Given the description of an element on the screen output the (x, y) to click on. 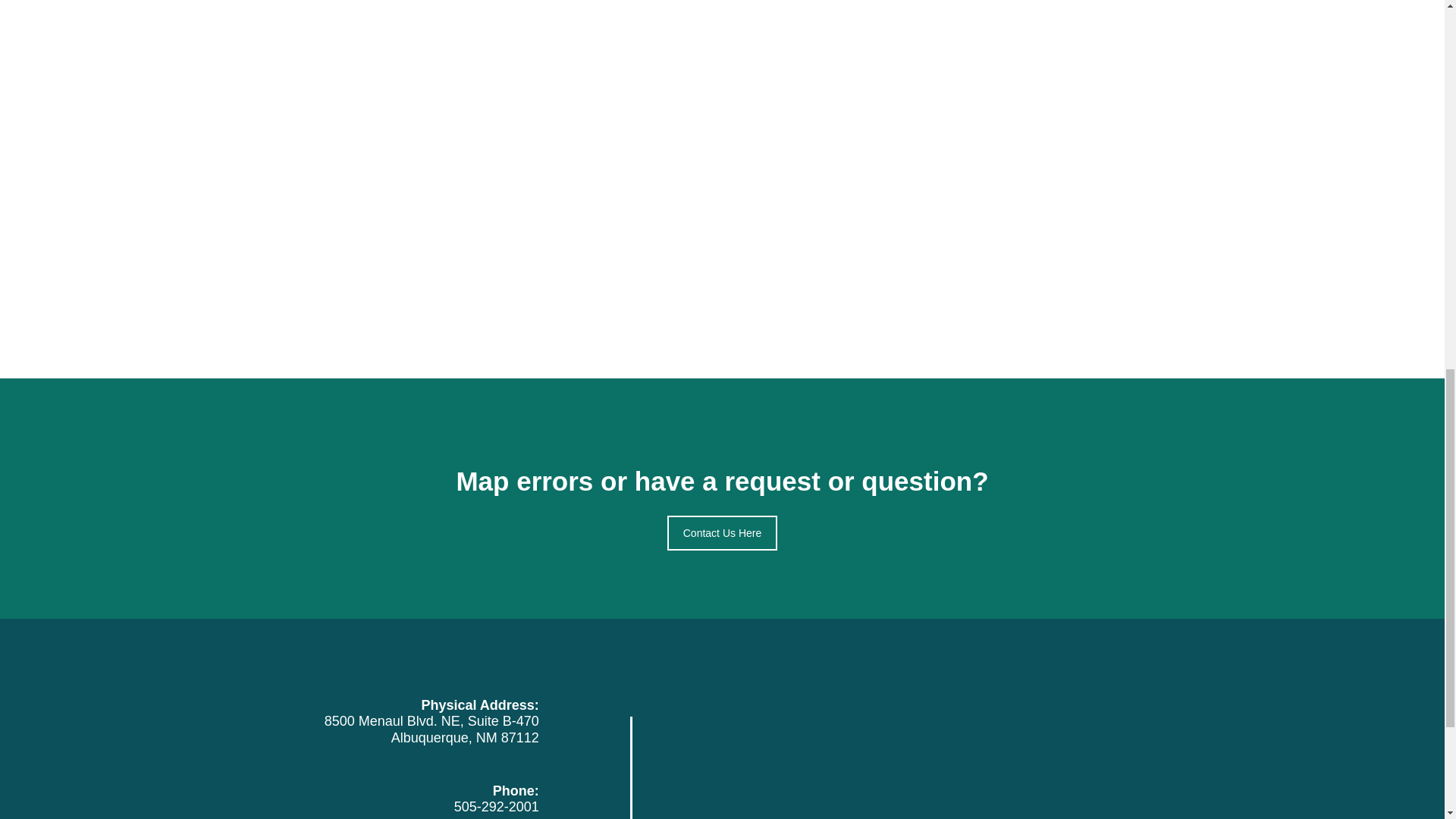
Contact Us (721, 532)
Contact Us Here (721, 532)
